Given the description of an element on the screen output the (x, y) to click on. 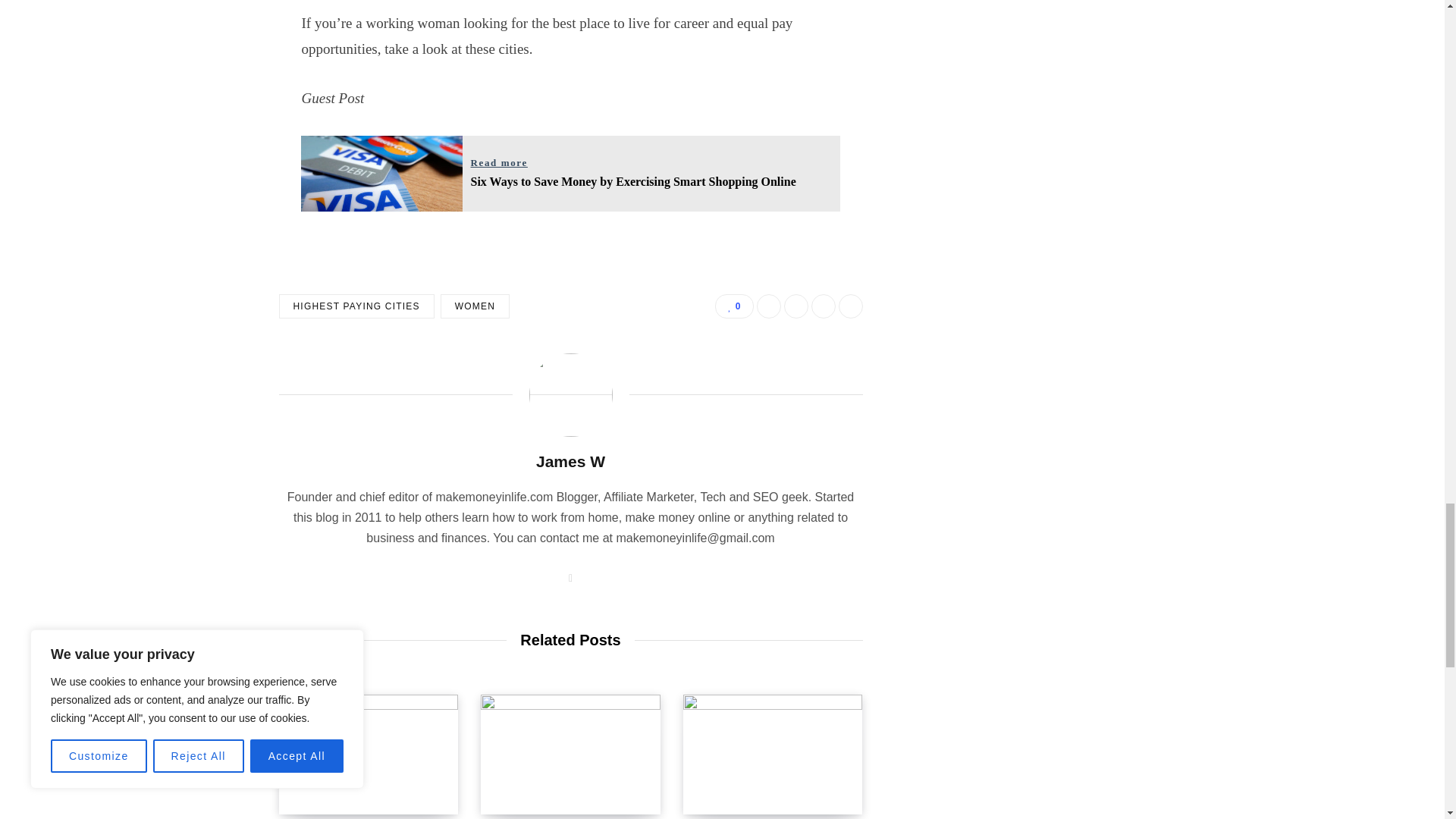
0 (733, 306)
Share on Twitter (796, 306)
WOMEN (475, 306)
Posts by James W (570, 461)
How to Find a Paypal Sandbox Merchant ID (368, 754)
HIGHEST PAYING CITIES (356, 306)
Share on Facebook (768, 306)
LinkedIn (822, 306)
Pinterest (850, 306)
